Given the description of an element on the screen output the (x, y) to click on. 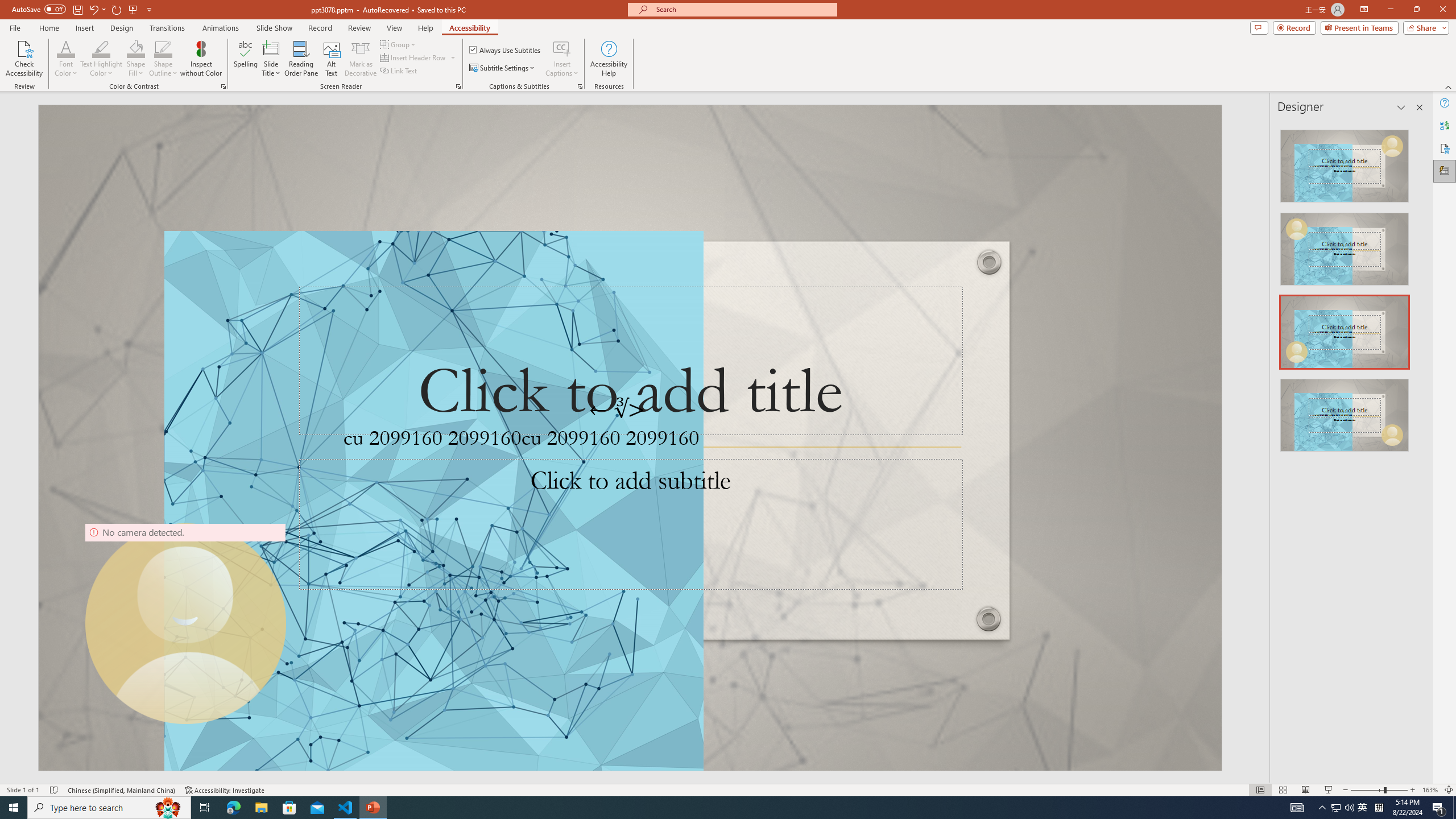
Color & Contrast (223, 85)
Reading Order Pane (301, 58)
